Given the description of an element on the screen output the (x, y) to click on. 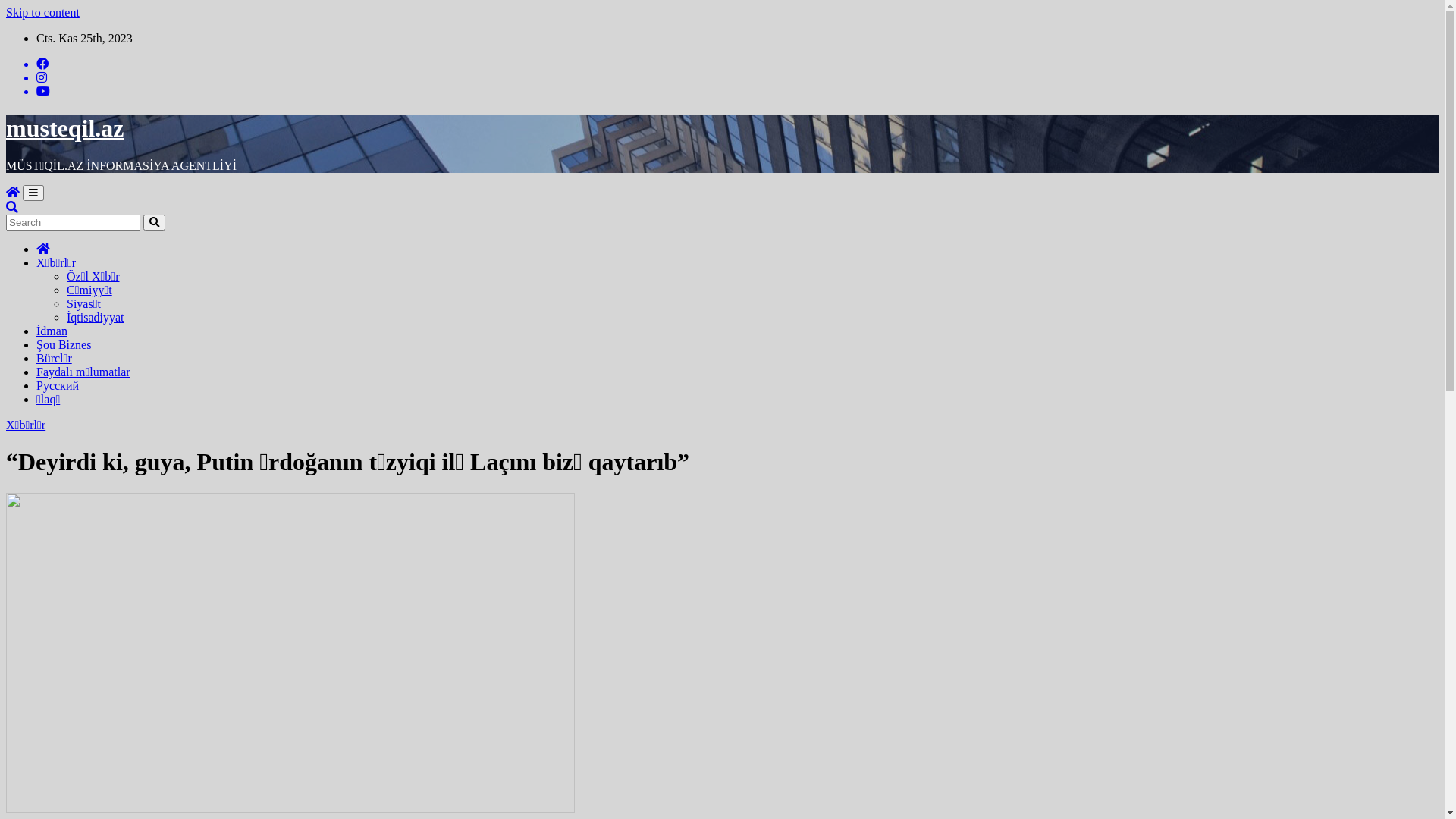
musteqil.az Element type: text (65, 127)
Skip to content Element type: text (42, 12)
